Given the description of an element on the screen output the (x, y) to click on. 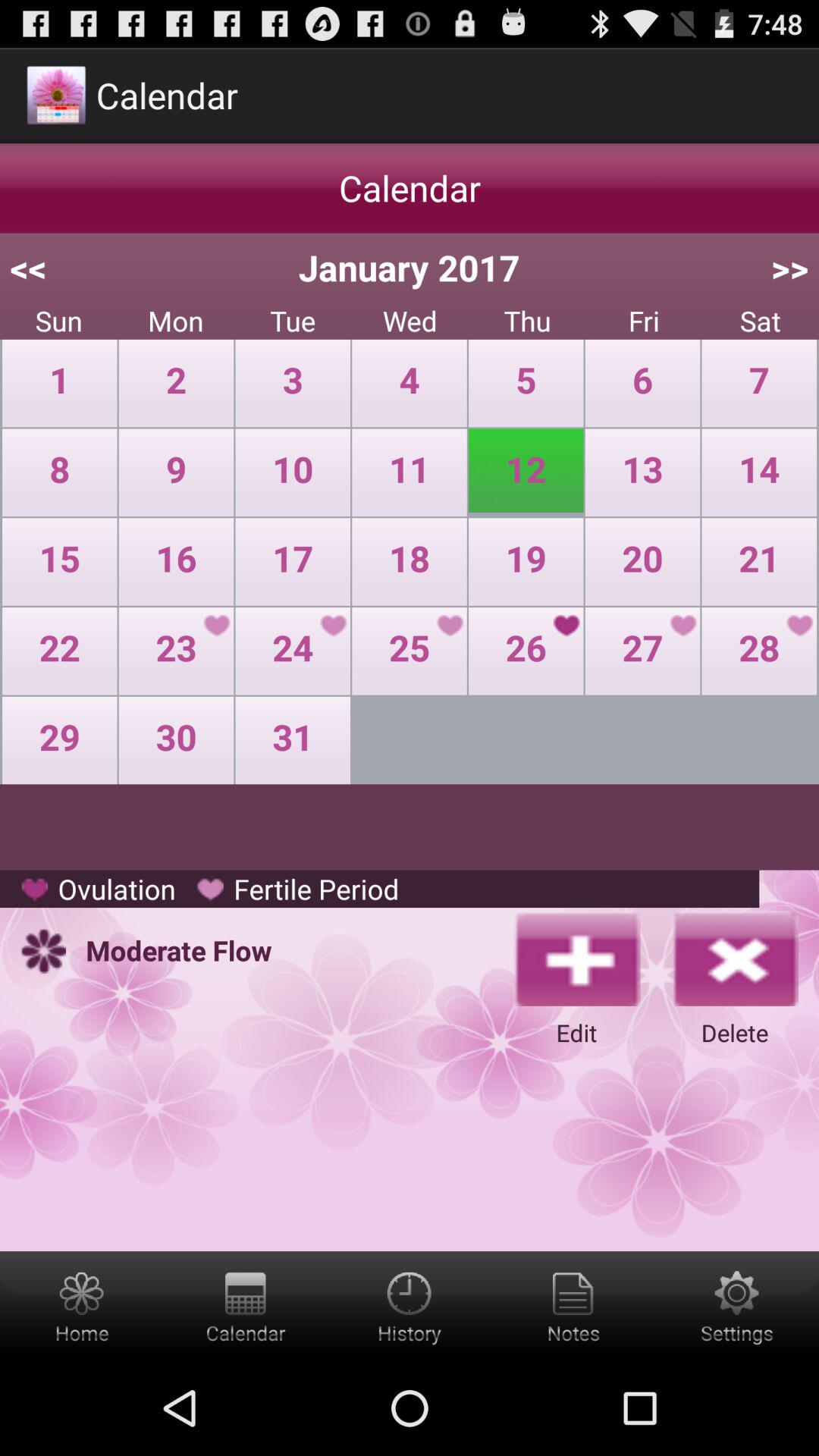
go to home (81, 1305)
